Given the description of an element on the screen output the (x, y) to click on. 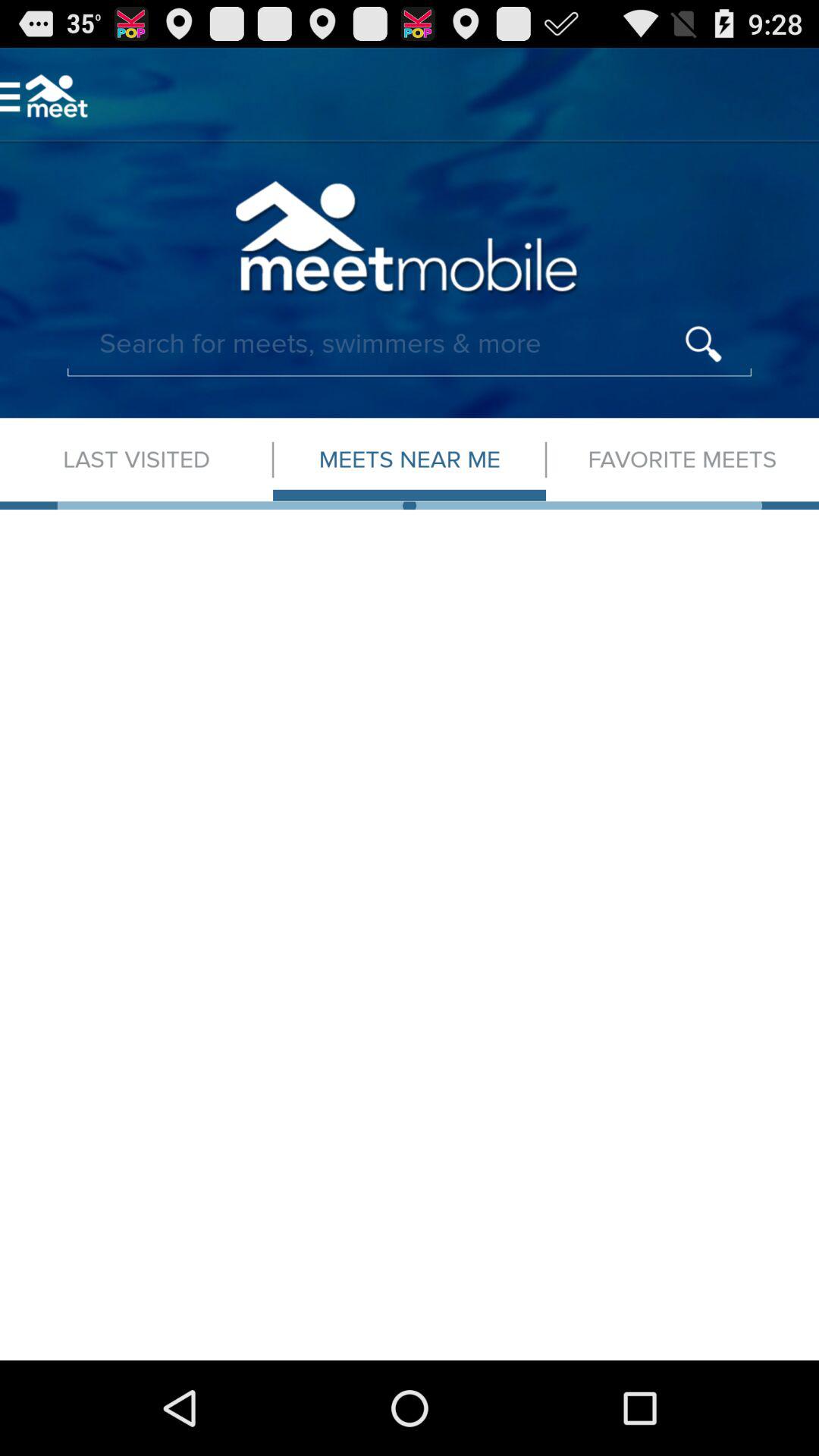
search bar (409, 344)
